Given the description of an element on the screen output the (x, y) to click on. 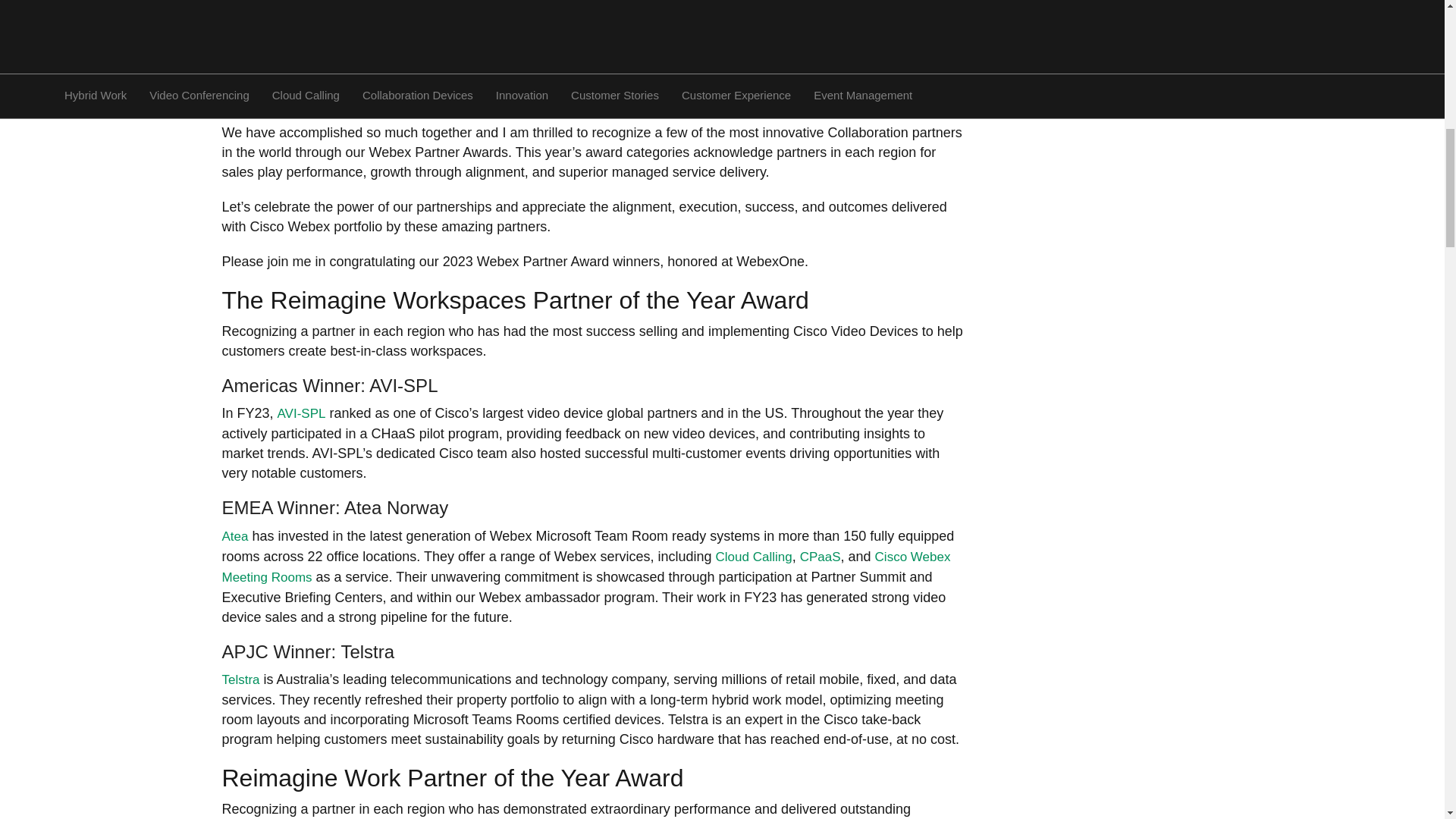
Atea (234, 536)
Cisco Webex Meeting Rooms (585, 566)
WebexOne (461, 6)
Cloud Calling (754, 556)
Cisco Webex Meeting Rooms (585, 566)
Telstra (240, 679)
Awards (273, 6)
Atea (234, 536)
AVI-SPL (302, 413)
CPaaS (820, 556)
